Given the description of an element on the screen output the (x, y) to click on. 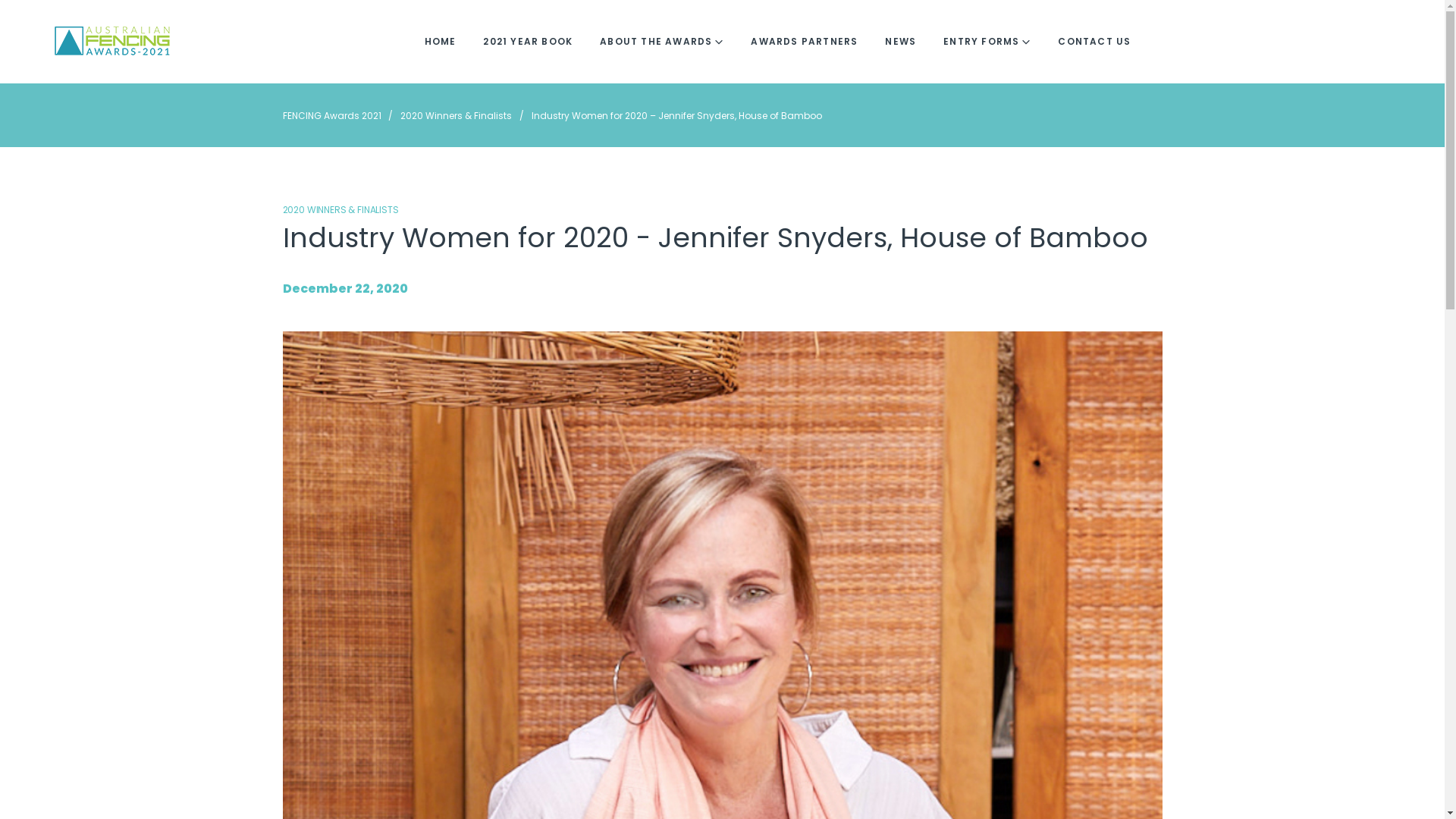
AWARDS PARTNERS Element type: text (803, 41)
ENTRY FORMS Element type: text (986, 41)
2020 WINNERS & FINALISTS Element type: text (340, 209)
ABOUT THE AWARDS Element type: text (661, 41)
NEWS Element type: text (900, 41)
HOME Element type: text (440, 41)
2020 Winners & Finalists Element type: text (455, 115)
December 22, 2020 Element type: text (344, 288)
CONTACT US Element type: text (1093, 41)
FENCING Awards 2021 Element type: text (331, 115)
2021 YEAR BOOK Element type: text (527, 41)
